Given the description of an element on the screen output the (x, y) to click on. 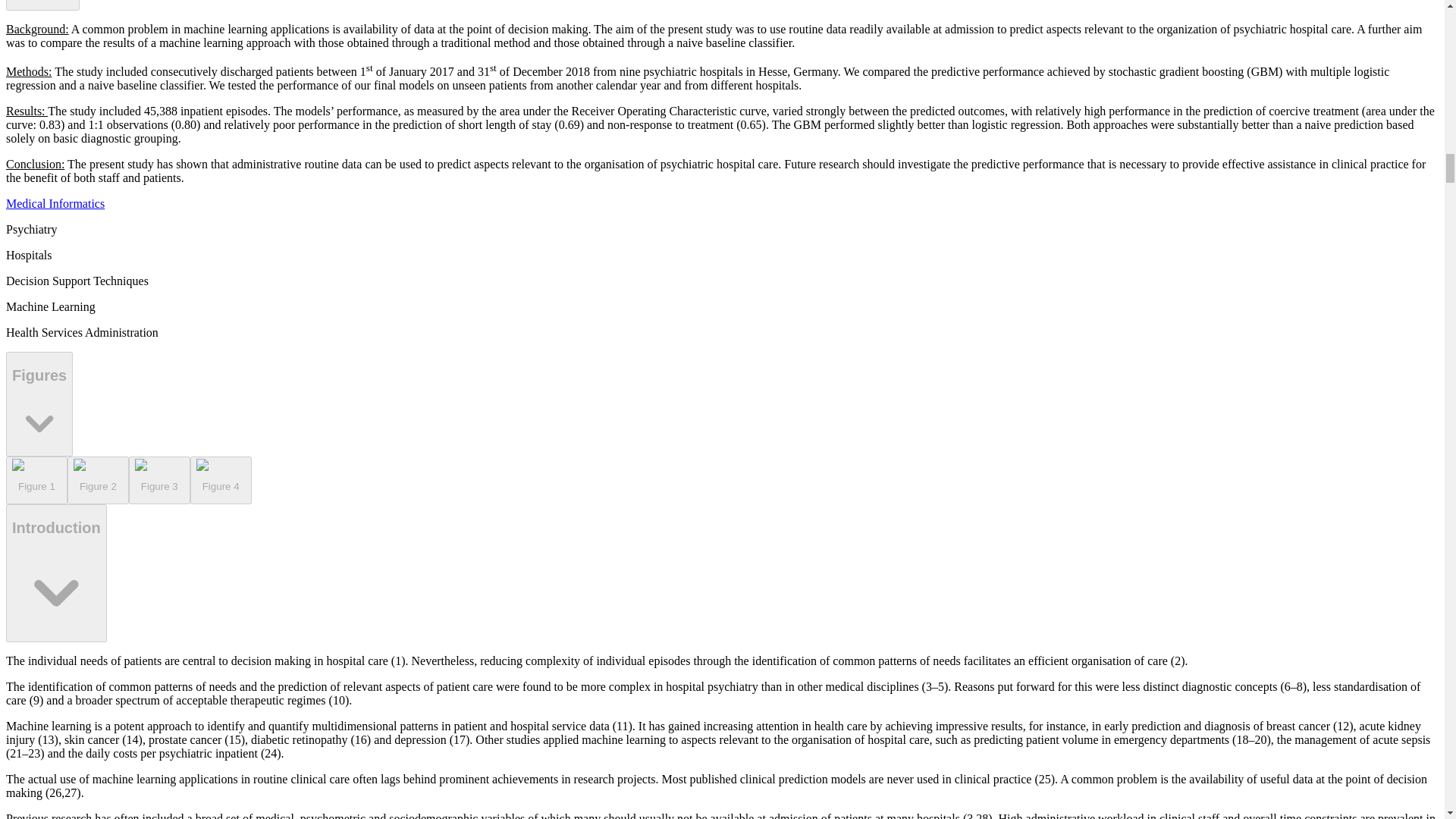
Figure 3 (159, 480)
Figure 4 (220, 480)
Figure 2 (97, 480)
Medical Informatics (54, 203)
Figure 1 (35, 480)
Abstract (42, 5)
